Given the description of an element on the screen output the (x, y) to click on. 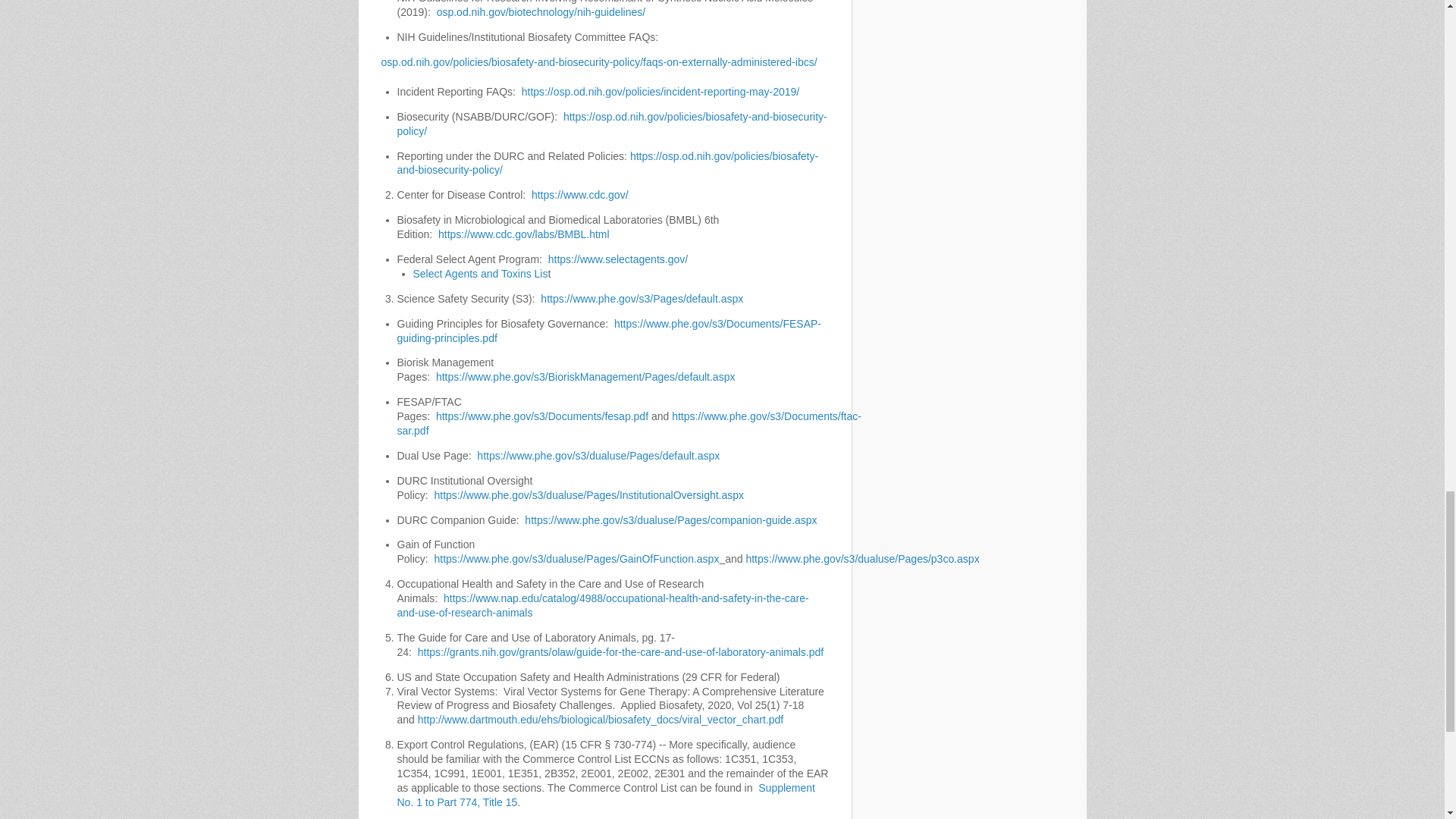
Select Agents and Toxins Lis (479, 273)
Supplement No. 1 to Part 774, Title 15 (606, 795)
